Given the description of an element on the screen output the (x, y) to click on. 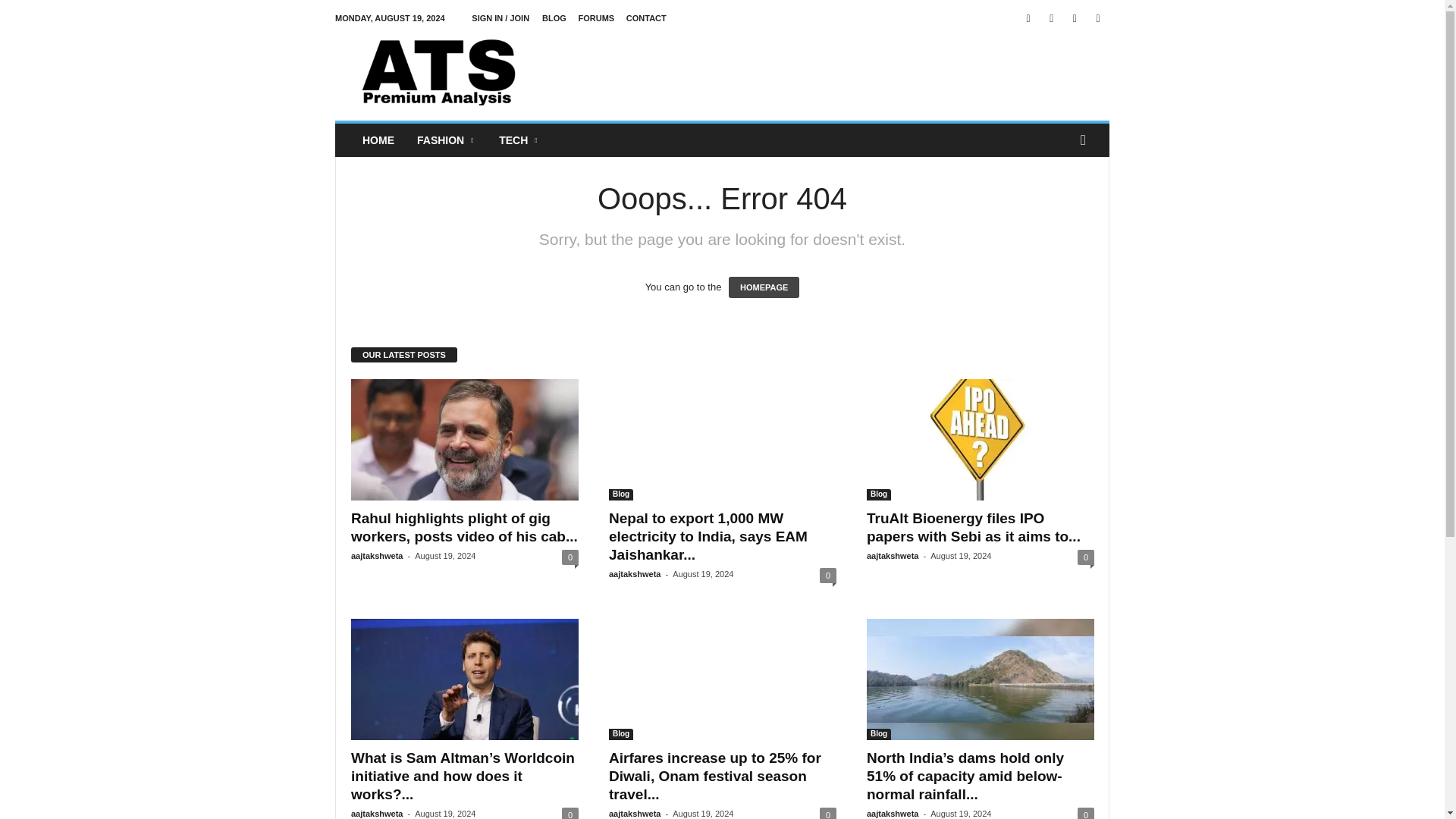
HOMEPAGE (764, 287)
TECH (519, 140)
CONTACT (646, 17)
HOME (378, 140)
0 (570, 557)
FASHION (446, 140)
FORUMS (596, 17)
BLOG (553, 17)
